Given the description of an element on the screen output the (x, y) to click on. 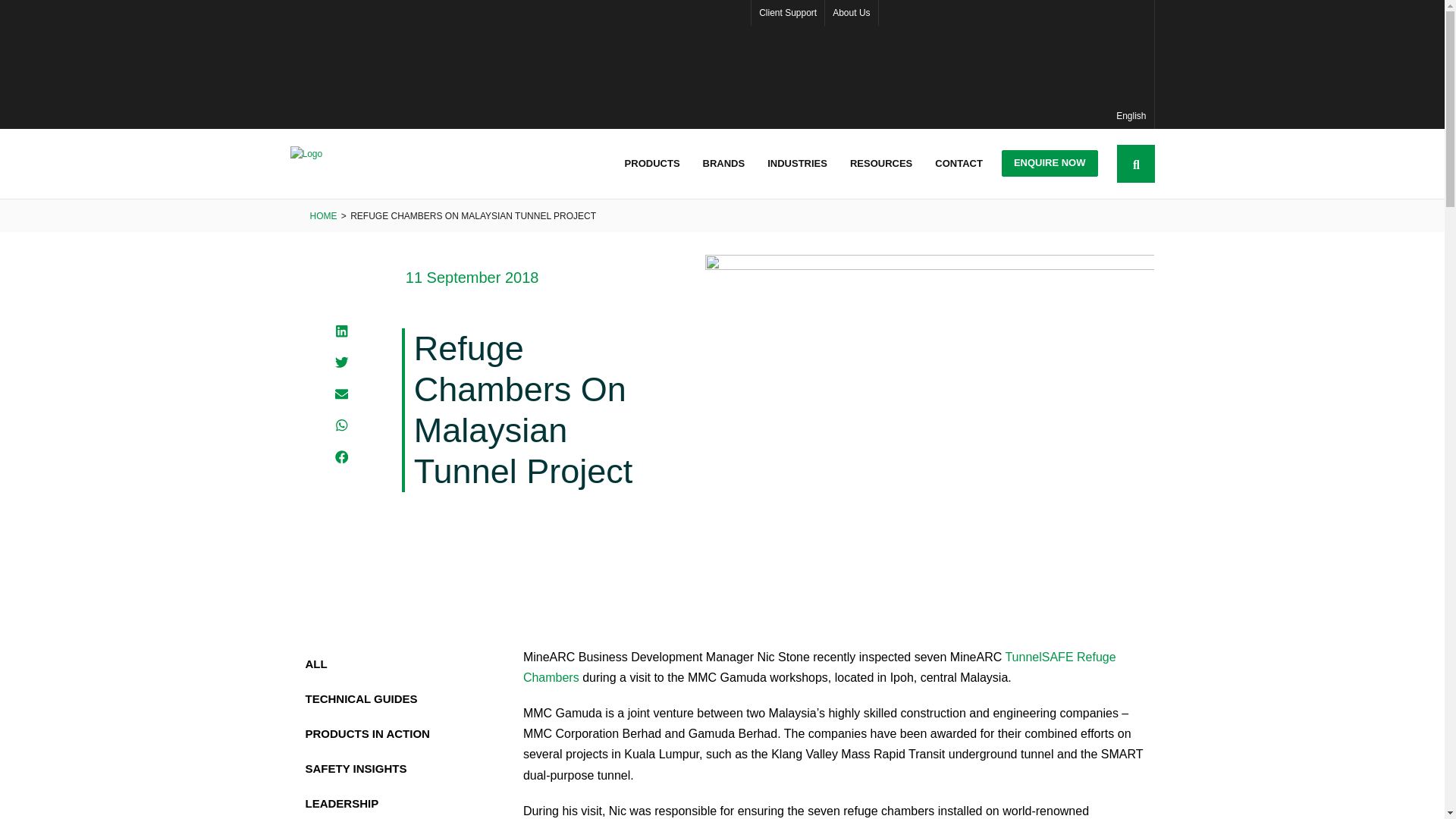
PRODUCTS (651, 163)
About Us (851, 12)
Client Support (787, 12)
English (1016, 64)
English (1016, 64)
